Given the description of an element on the screen output the (x, y) to click on. 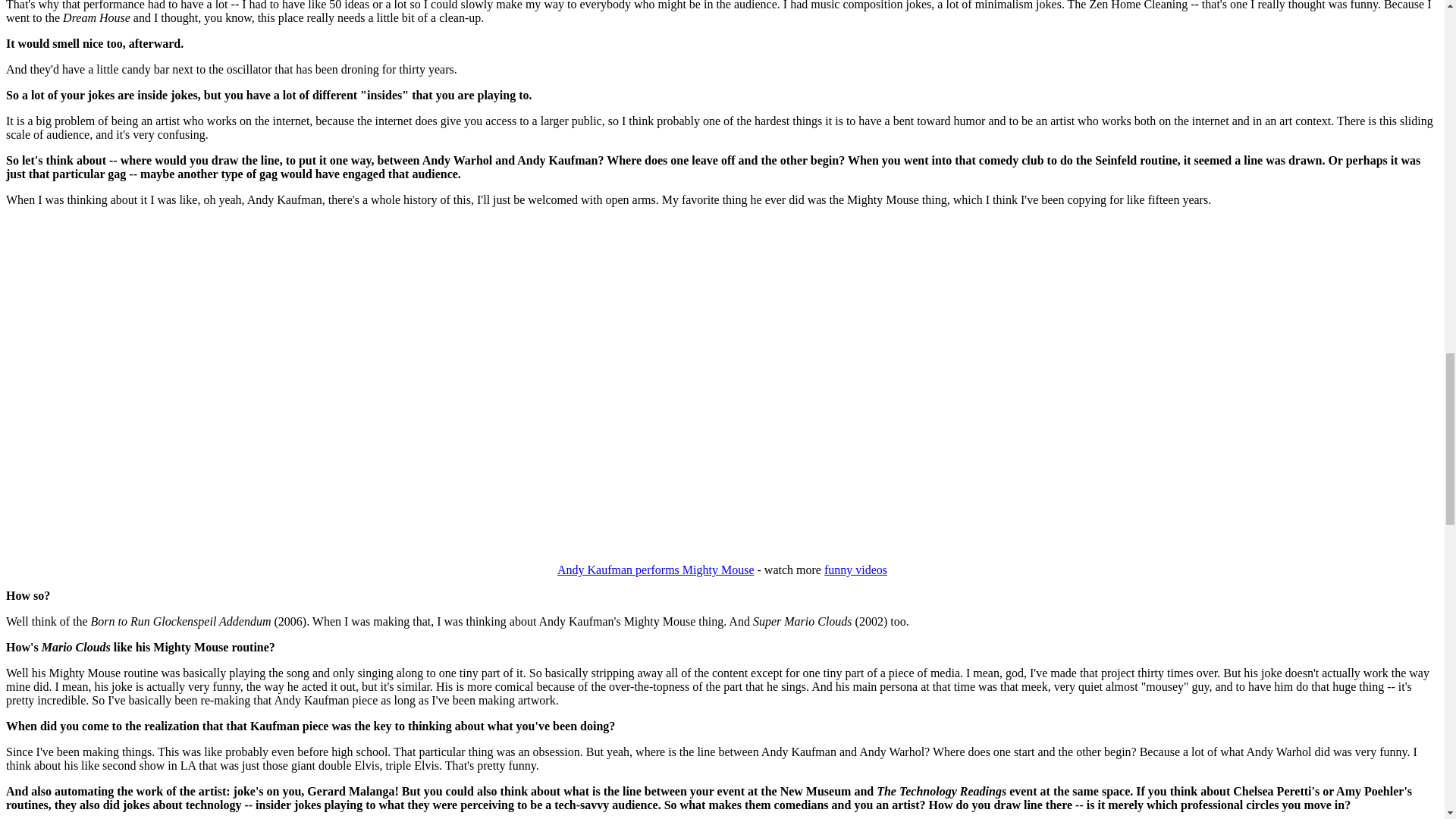
by AndyKaufmanFan (655, 569)
funny videos (855, 569)
on Funny or Die (855, 569)
Andy Kaufman performs Mighty Mouse (655, 569)
